Given the description of an element on the screen output the (x, y) to click on. 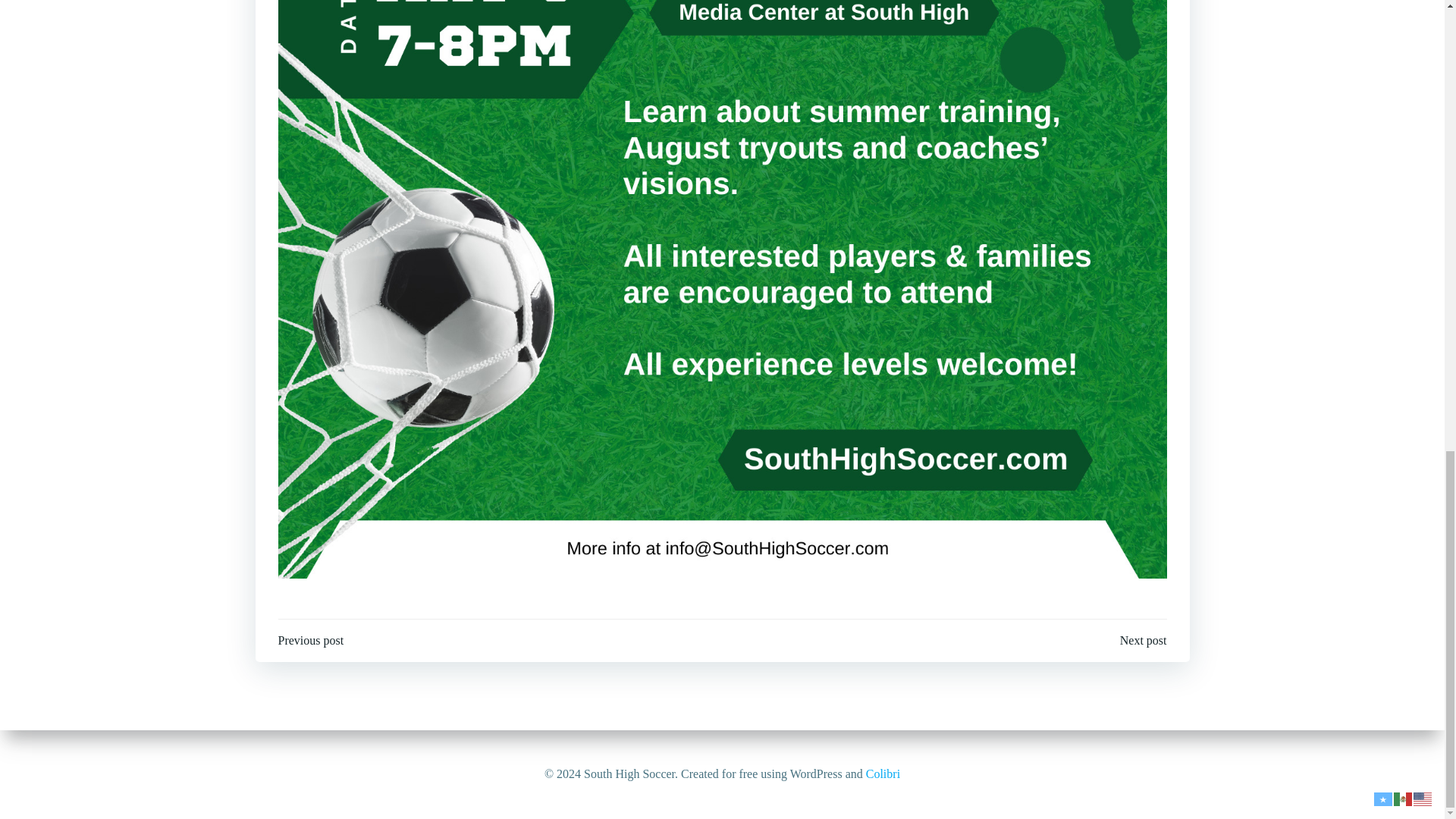
Previous post (310, 640)
Next post (1143, 640)
